Given the description of an element on the screen output the (x, y) to click on. 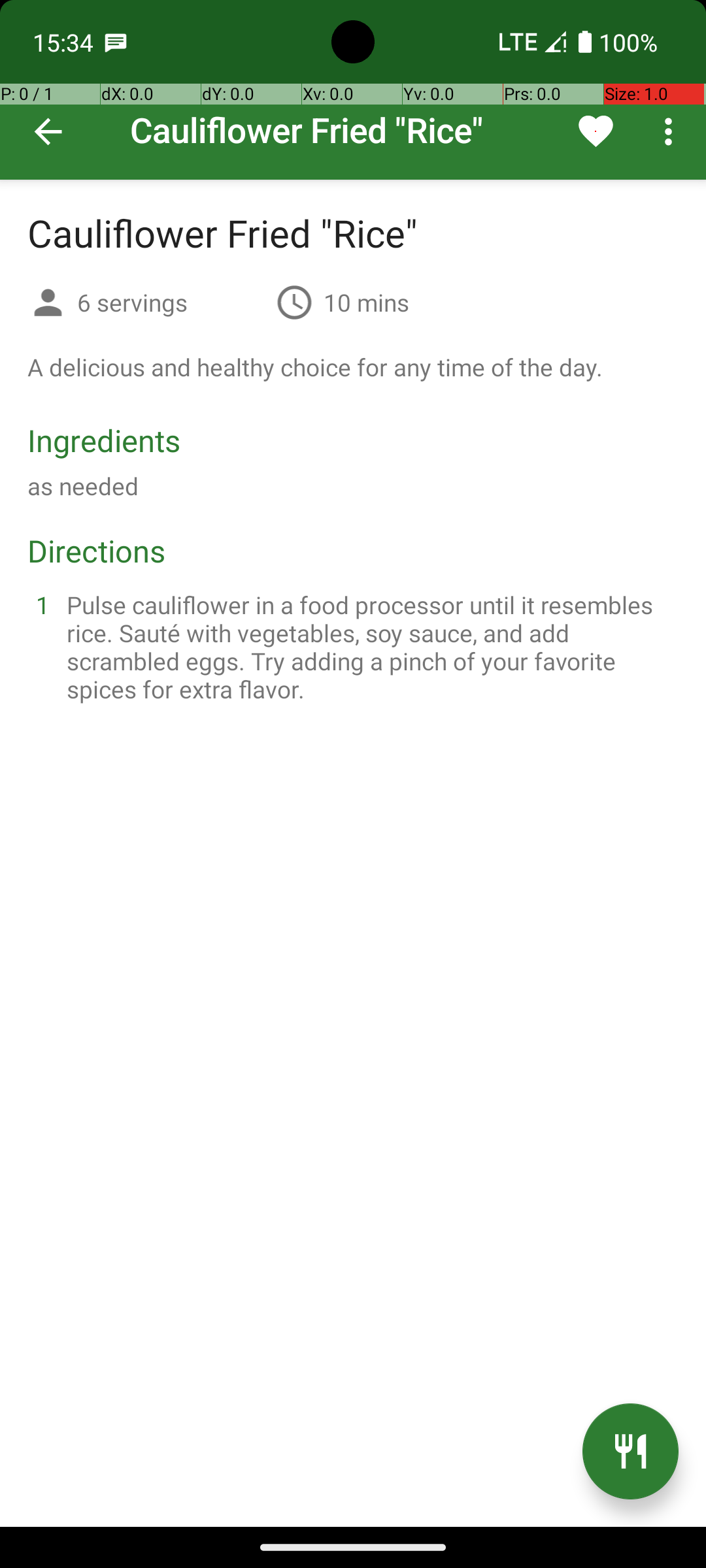
Pulse cauliflower in a food processor until it resembles rice. Sauté with vegetables, soy sauce, and add scrambled eggs. Try adding a pinch of your favorite spices for extra flavor. Element type: android.widget.TextView (368, 646)
